Given the description of an element on the screen output the (x, y) to click on. 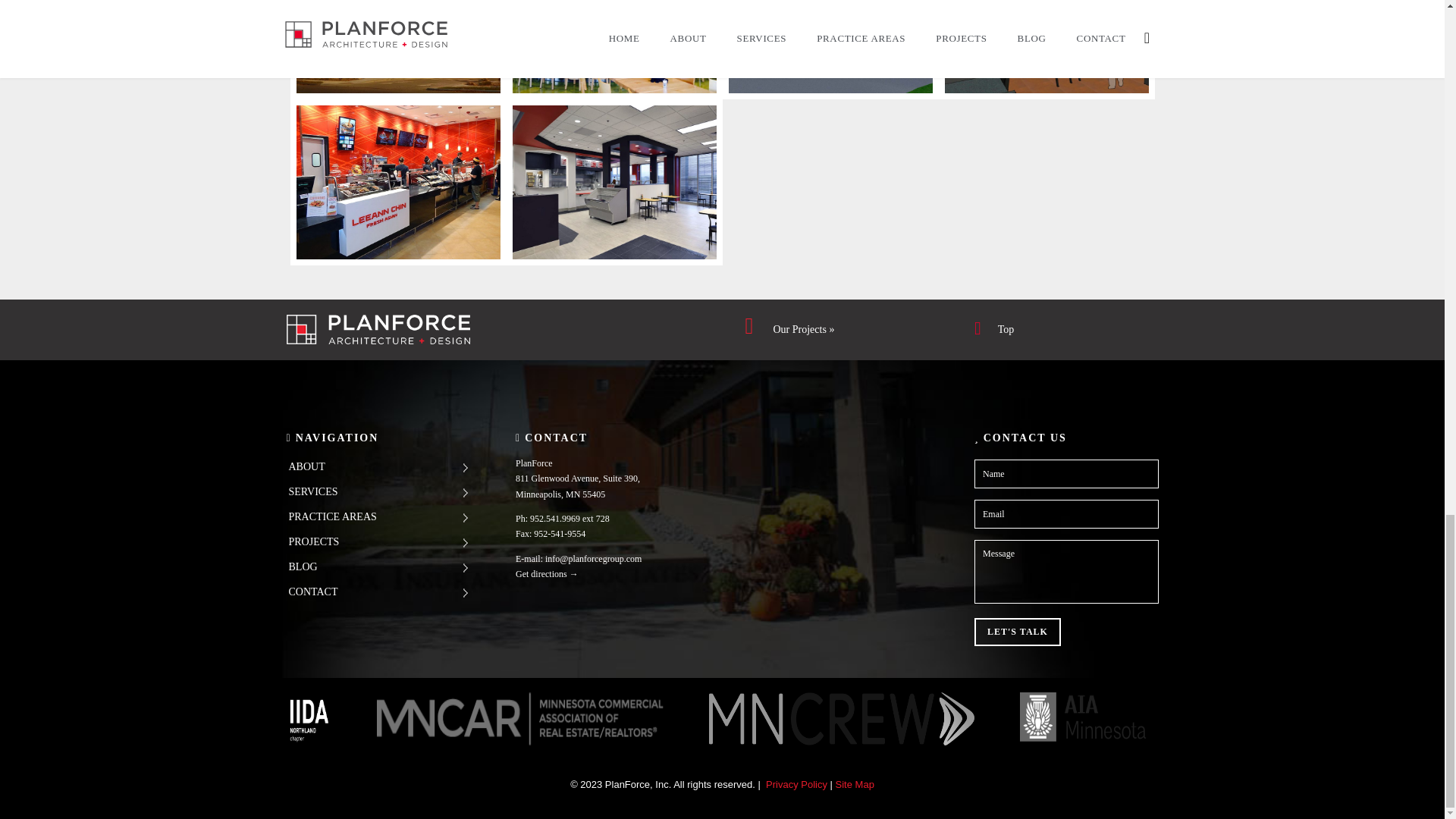
LET'S TALK (1017, 632)
